Given the description of an element on the screen output the (x, y) to click on. 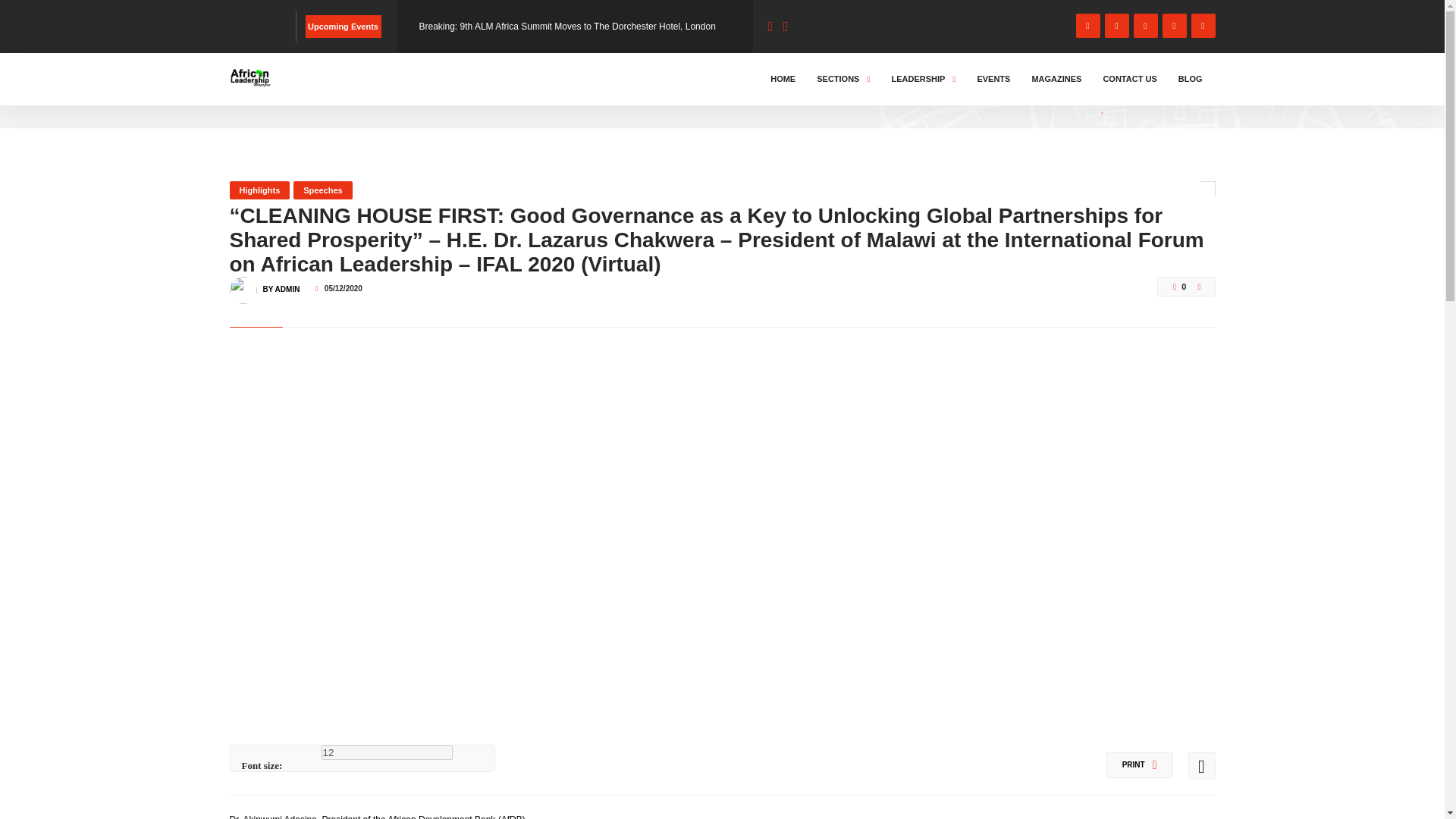
Scroll Down To Discover (1154, 88)
HOME (782, 79)
BLOG (1190, 79)
MAGAZINES (1056, 79)
HOME (246, 92)
SECTIONS (842, 79)
BLOG (293, 92)
12 (386, 752)
BY ADMIN (280, 281)
